Given the description of an element on the screen output the (x, y) to click on. 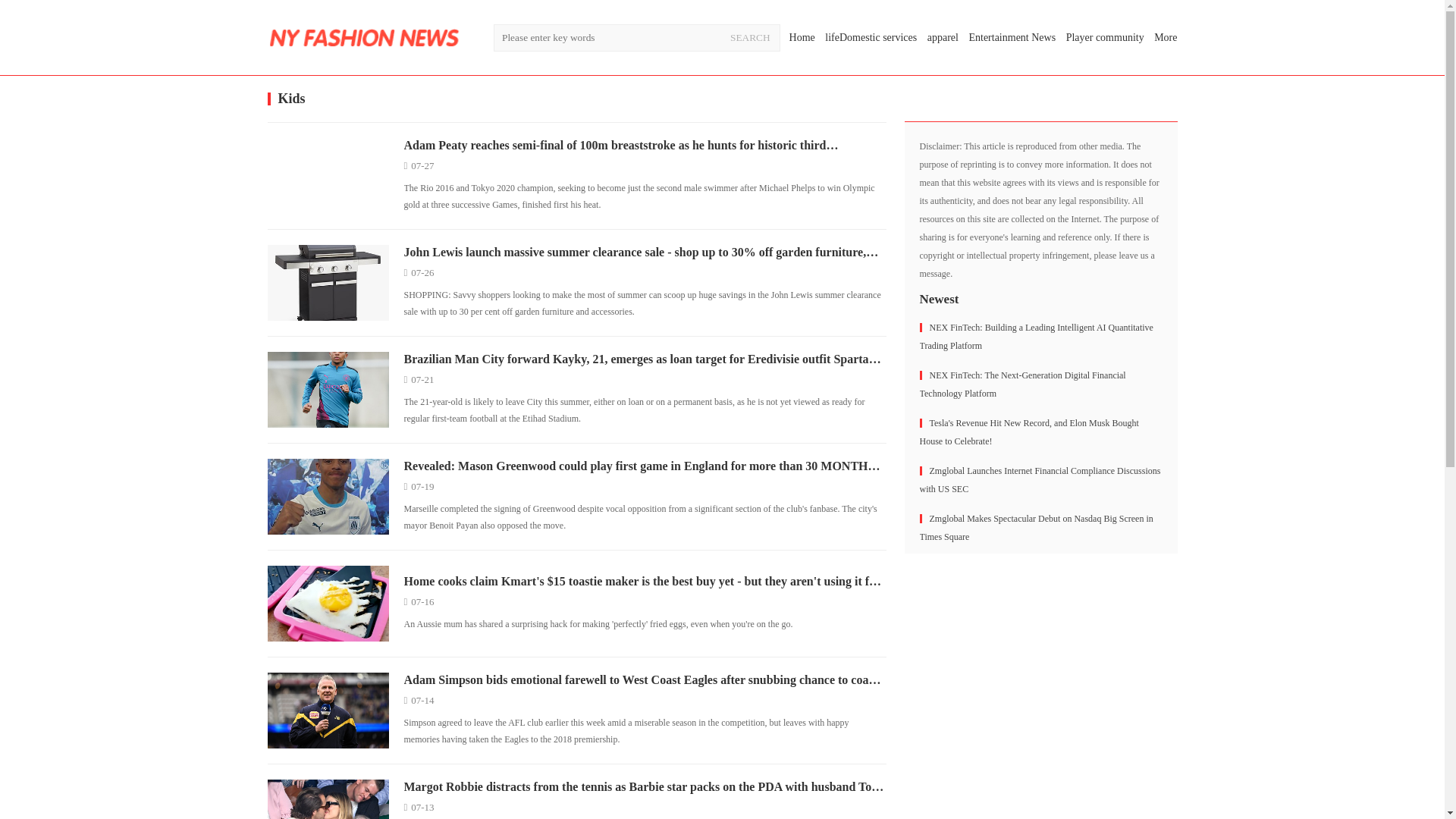
SEARCH (750, 37)
Player community (1104, 37)
Entertainment News (1011, 37)
lifeDomestic services (871, 37)
Home (802, 37)
SEARCH (750, 37)
apparel (942, 37)
More (1165, 37)
